Given the description of an element on the screen output the (x, y) to click on. 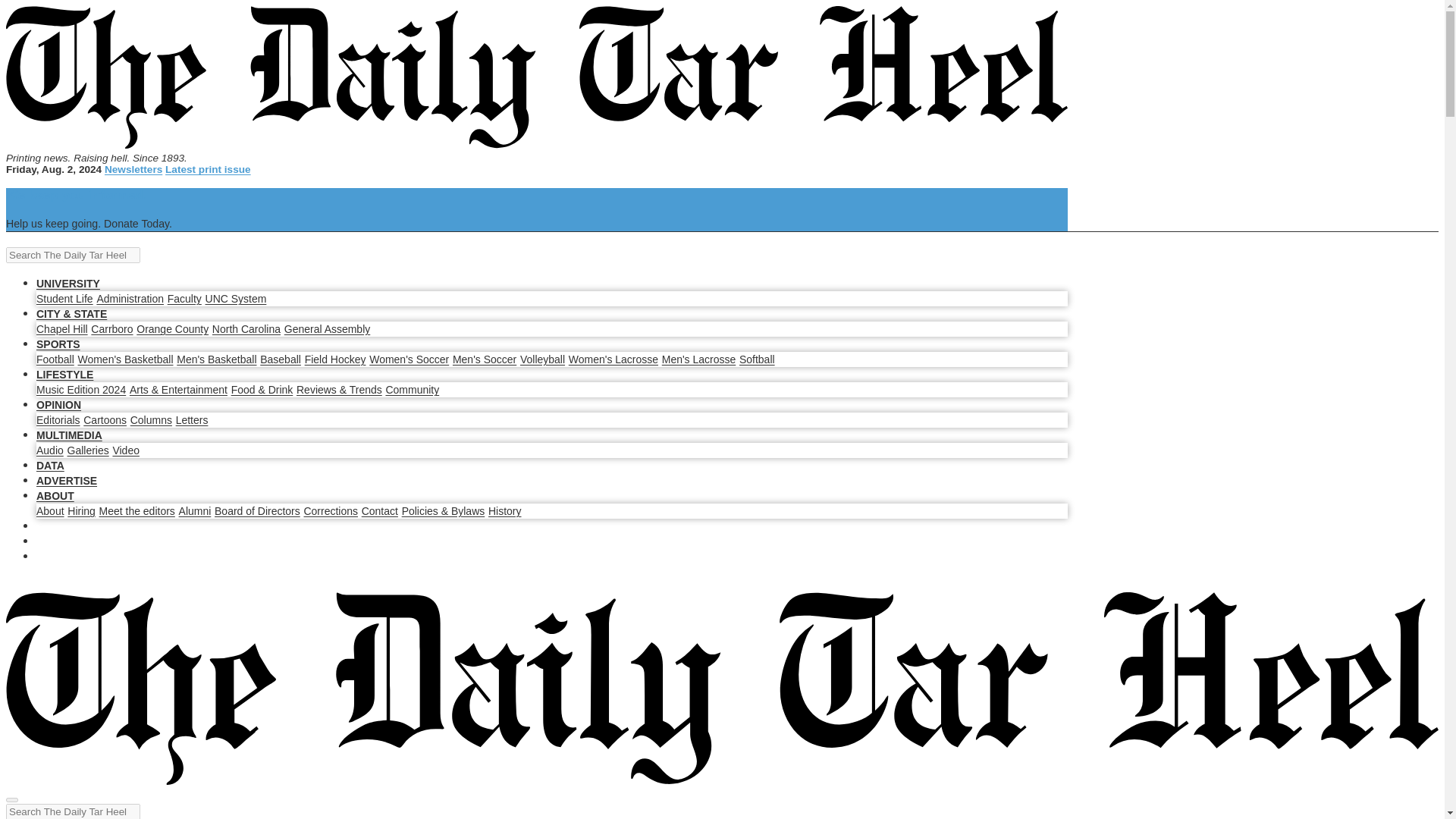
Data (890, 132)
Latest print issue (323, 57)
We keep you informed. (1129, 38)
Advertise (970, 132)
OPINION (697, 132)
LIFESTYLE (597, 132)
SPORTS (498, 132)
Newsletters (323, 42)
UNIVERSITY (276, 132)
